Given the description of an element on the screen output the (x, y) to click on. 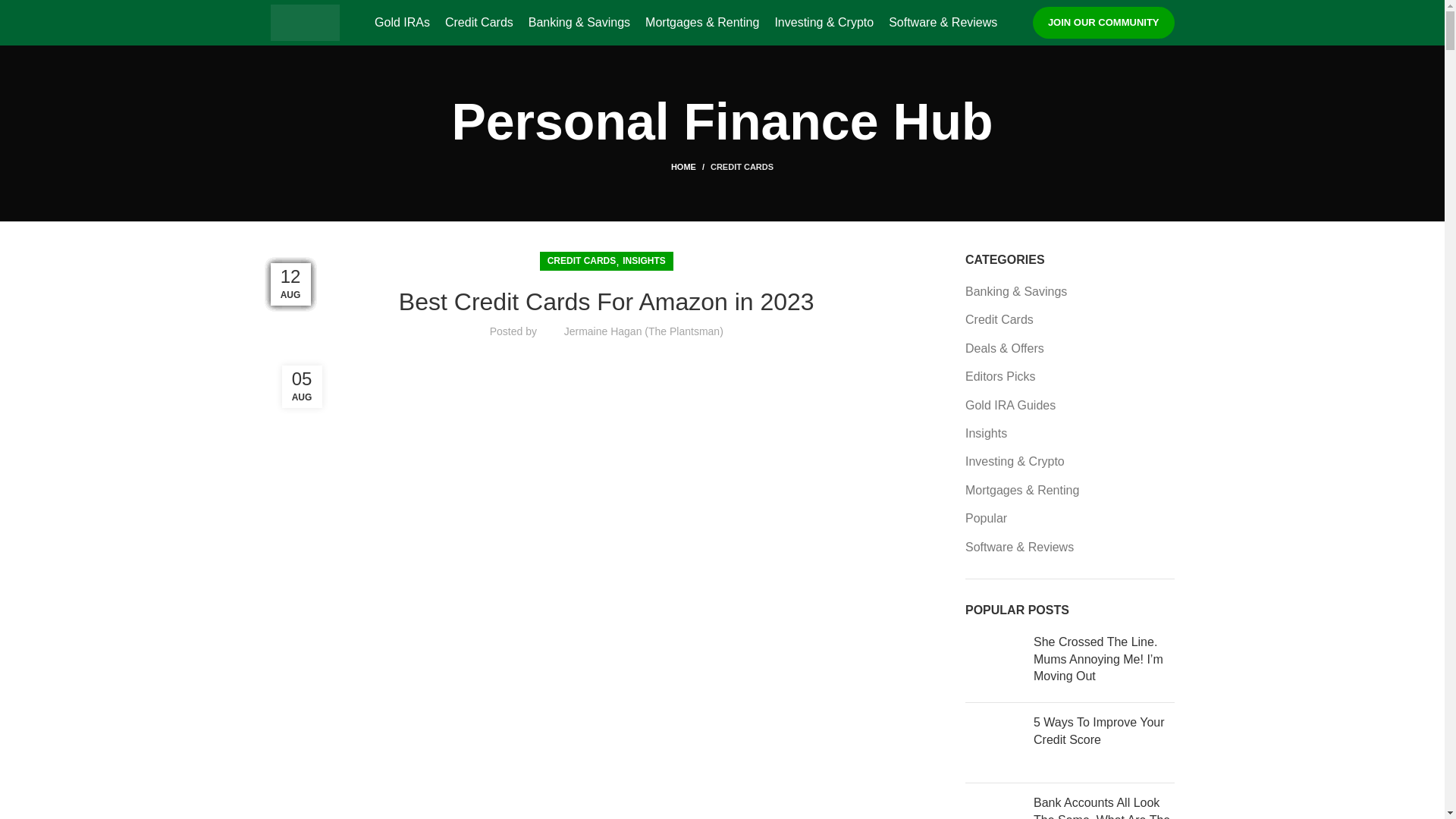
INSIGHTS (644, 261)
HOME (690, 166)
CREDIT CARDS (741, 166)
JOIN OUR COMMUNITY (1103, 22)
CREDIT CARDS (581, 261)
Gold IRAs (402, 22)
Credit Cards (479, 22)
